Given the description of an element on the screen output the (x, y) to click on. 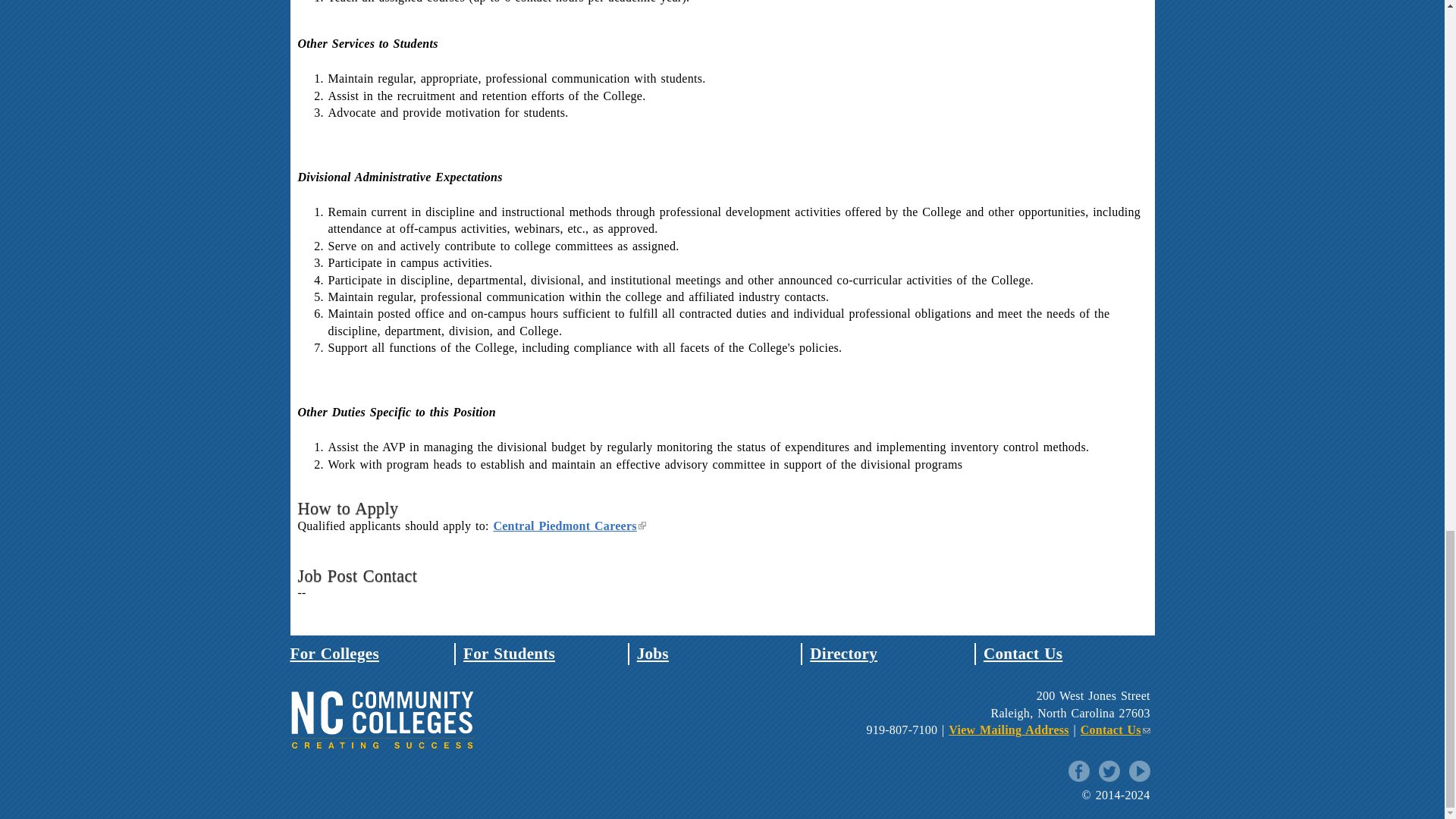
Contact Us (1023, 653)
Facebook (1078, 771)
Central Piedmont Careers (569, 525)
Facebook (1078, 771)
Jobs (652, 653)
For Colleges (333, 653)
YouTube (1139, 771)
Directory (843, 653)
Twitter (1109, 771)
For Students (508, 653)
